Given the description of an element on the screen output the (x, y) to click on. 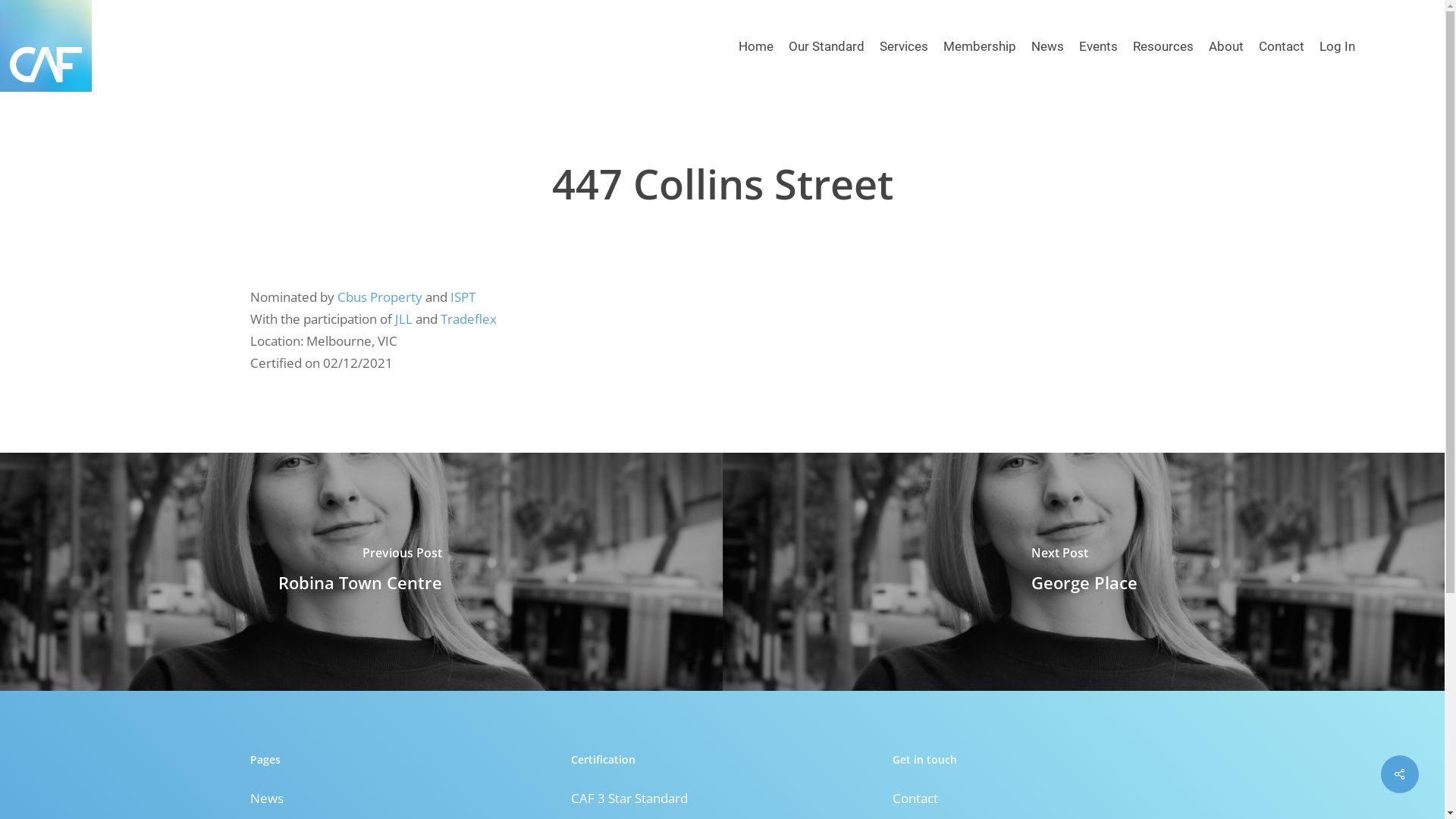
News Element type: text (1047, 46)
Contact Element type: text (1043, 798)
News Element type: text (401, 798)
Menu Element type: text (1415, 7)
Home Element type: text (755, 46)
Log In Element type: text (1337, 46)
Membership Element type: text (979, 46)
Our Standard Element type: text (826, 46)
Services Element type: text (903, 46)
Cbus Property Element type: text (379, 296)
JLL Element type: text (403, 318)
Tradeflex Element type: text (468, 318)
ISPT Element type: text (462, 296)
Resources Element type: text (1162, 46)
CAF 3 Star Standard Element type: text (721, 798)
About Element type: text (1225, 46)
Events Element type: text (1098, 46)
Contact Element type: text (1281, 46)
